Given the description of an element on the screen output the (x, y) to click on. 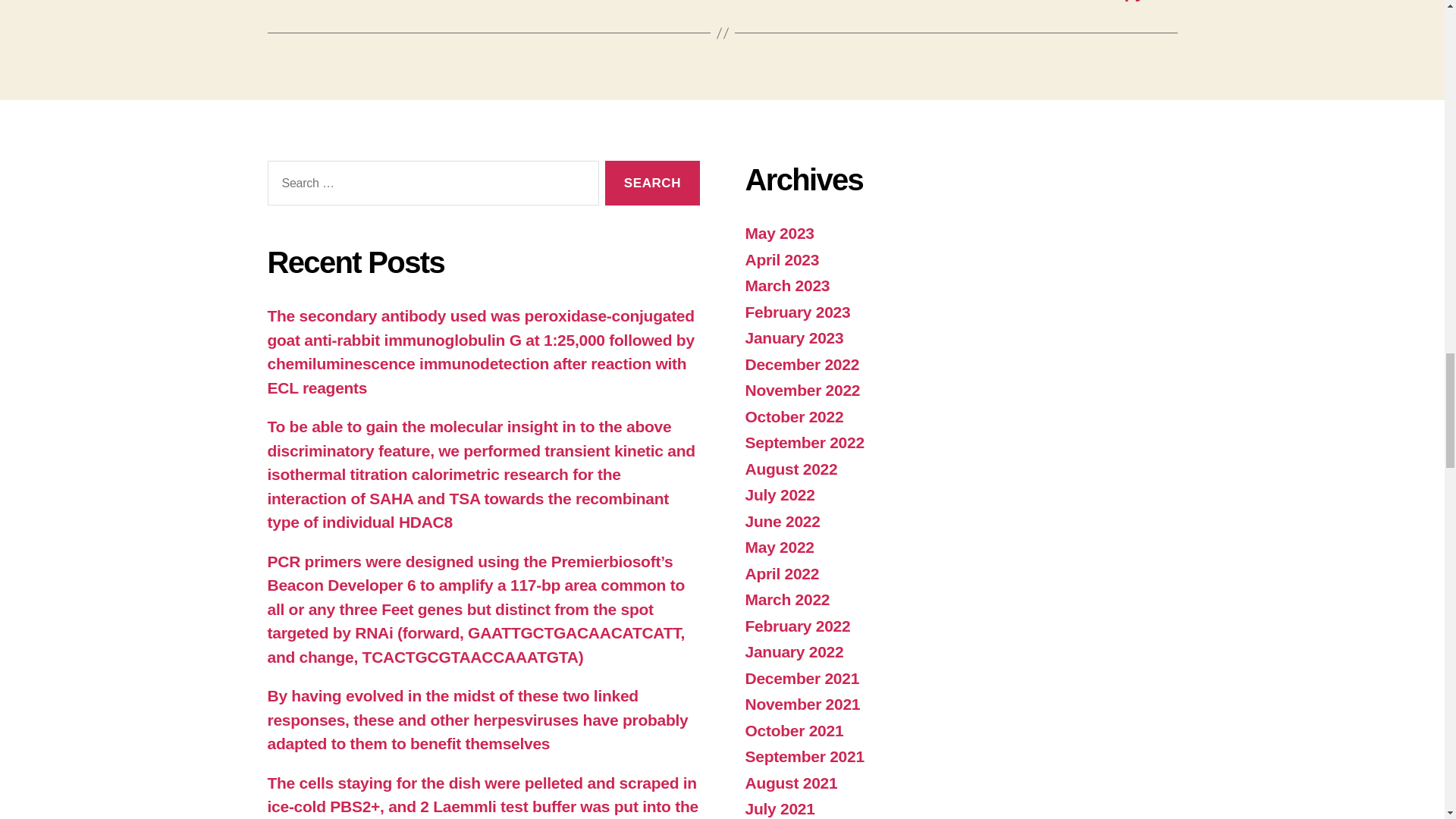
Search (651, 182)
May 2022 (778, 547)
January 2023 (793, 337)
Search (651, 182)
January 2022 (793, 651)
March 2022 (786, 599)
February 2023 (797, 312)
